Given the description of an element on the screen output the (x, y) to click on. 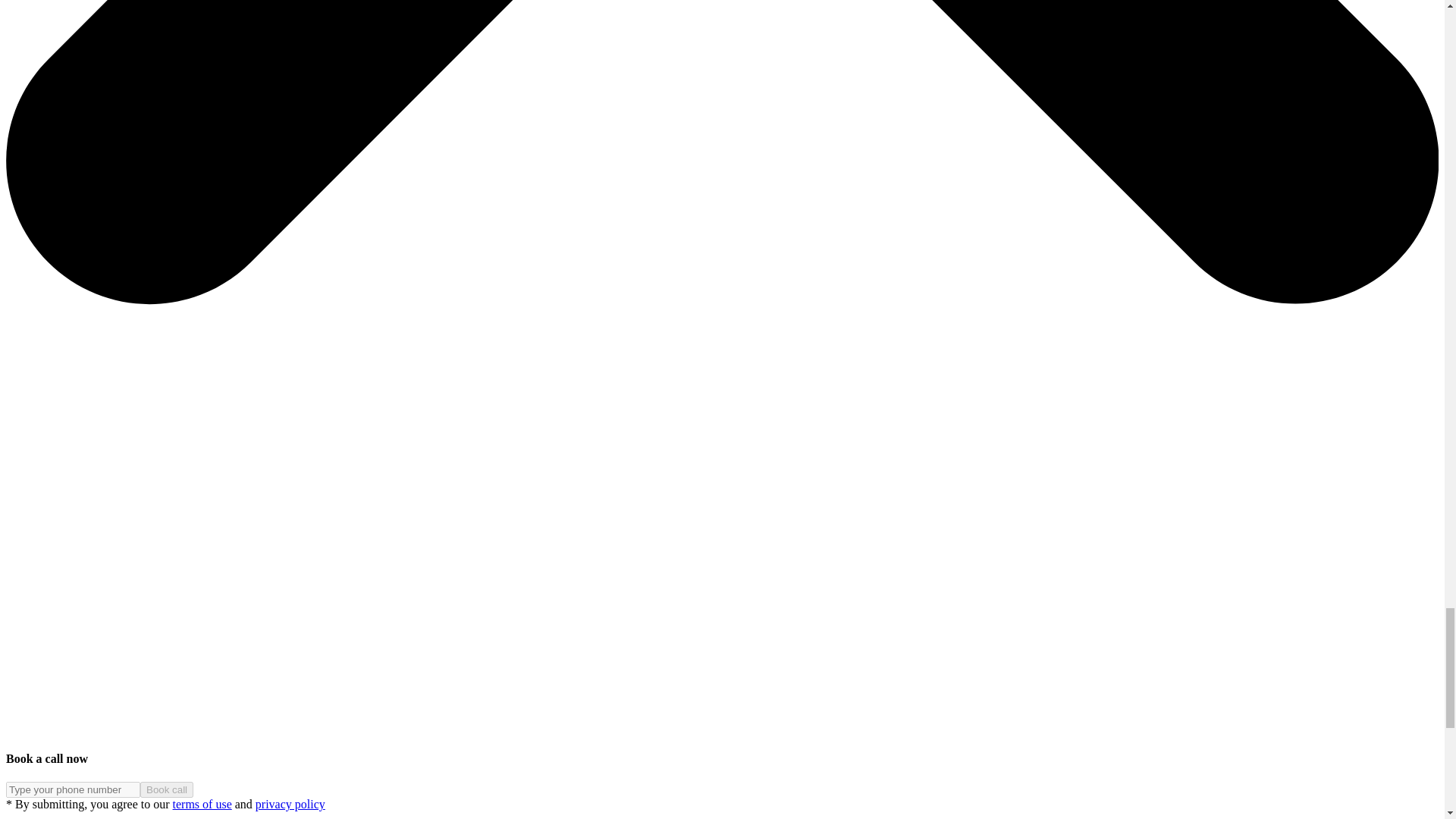
terms of use (202, 803)
privacy policy (290, 803)
Book call (166, 789)
